Given the description of an element on the screen output the (x, y) to click on. 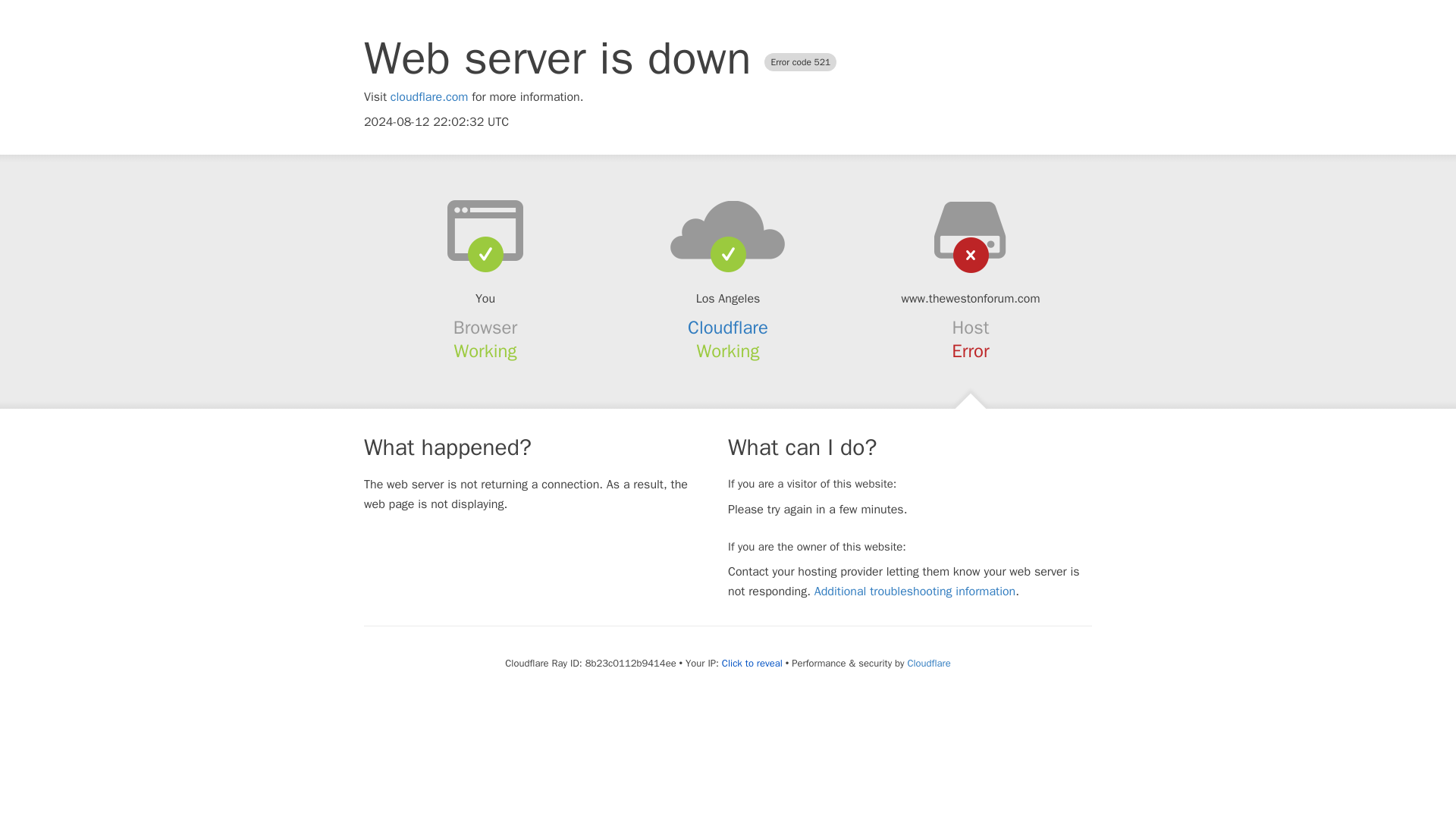
Click to reveal (752, 663)
Cloudflare (928, 662)
cloudflare.com (429, 96)
Cloudflare (727, 327)
Additional troubleshooting information (913, 590)
